Given the description of an element on the screen output the (x, y) to click on. 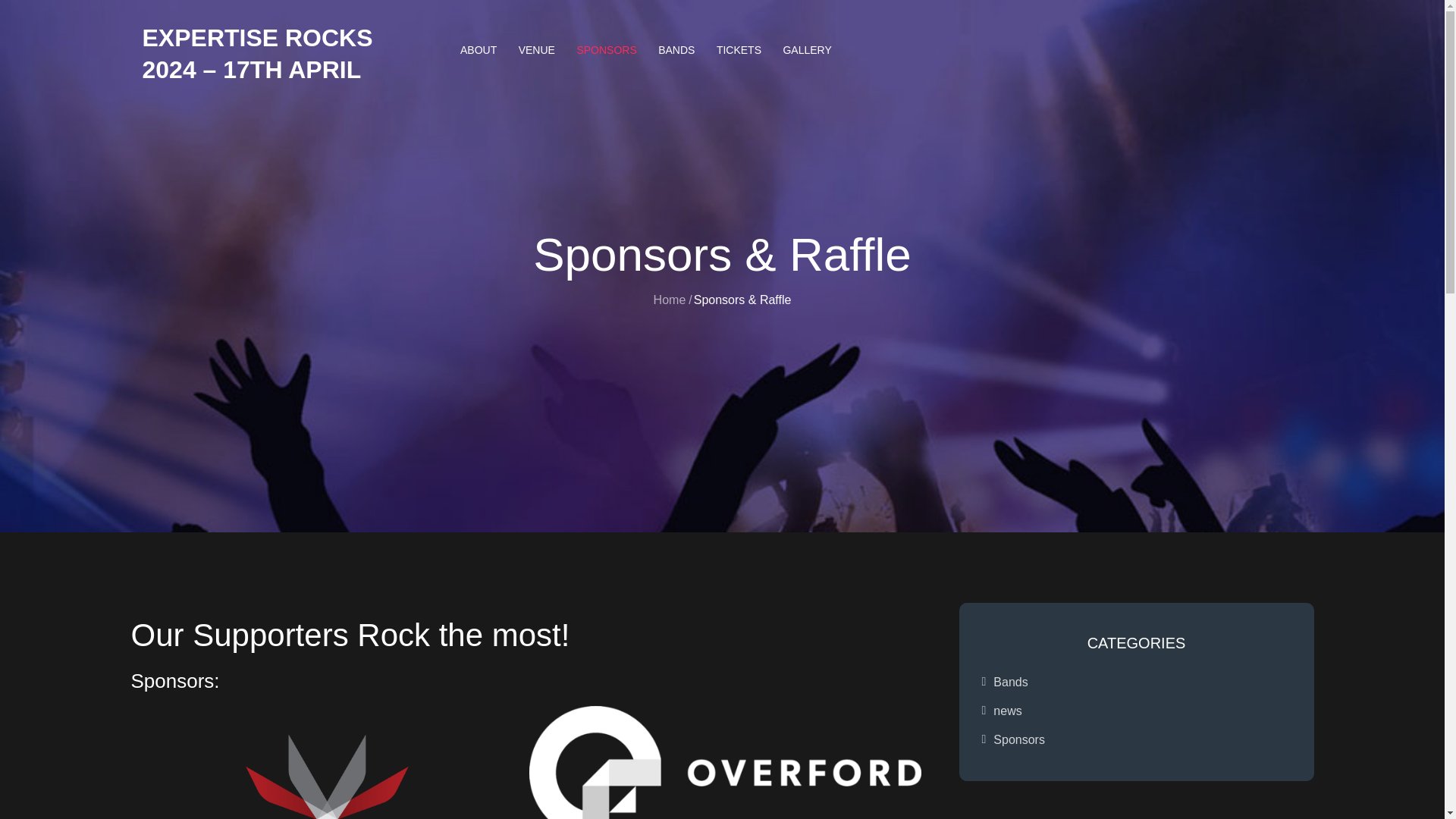
SPONSORS (606, 49)
ABOUT (478, 49)
GALLERY (806, 49)
Bands (1009, 681)
TICKETS (738, 49)
BANDS (676, 49)
news (1007, 710)
Sponsors (1018, 739)
Home (669, 300)
VENUE (536, 49)
